Given the description of an element on the screen output the (x, y) to click on. 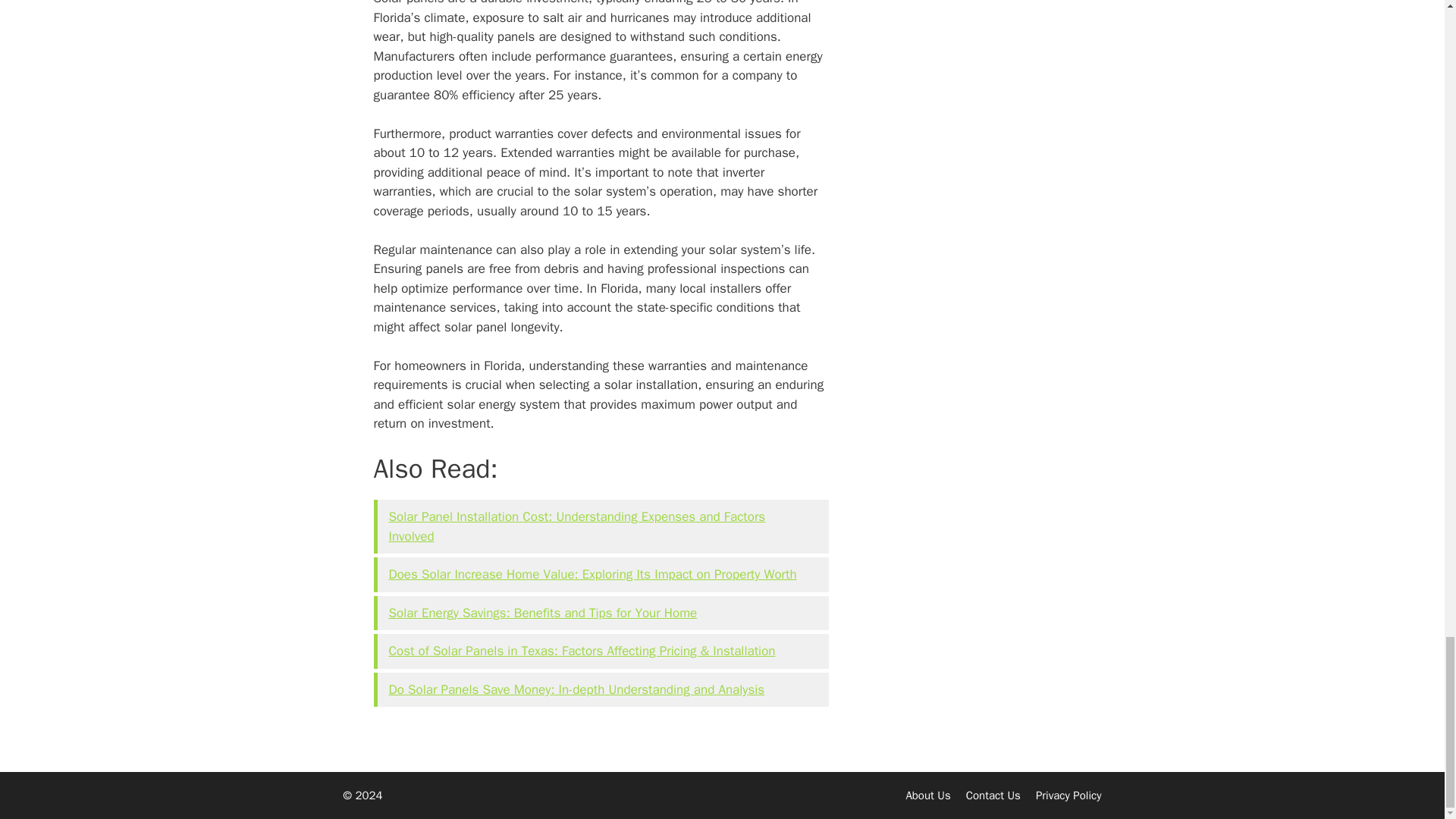
Privacy Policy (1068, 795)
Solar Energy Savings: Benefits and Tips for Your Home (542, 612)
Solar Energy Savings: Benefits and Tips for Your Home (542, 612)
Contact Us (993, 795)
About Us (927, 795)
